Given the description of an element on the screen output the (x, y) to click on. 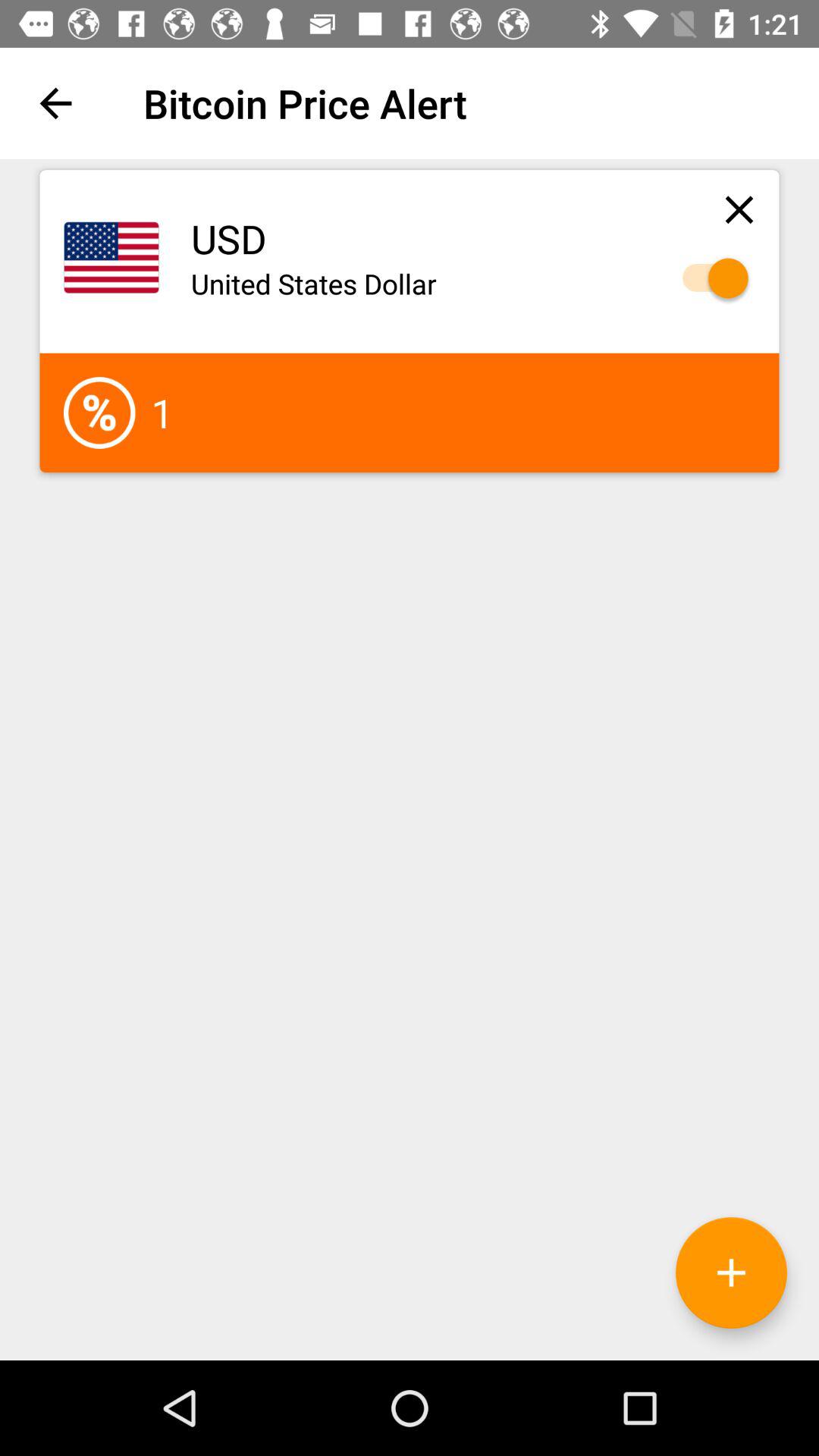
choose the item next to usd (739, 209)
